Given the description of an element on the screen output the (x, y) to click on. 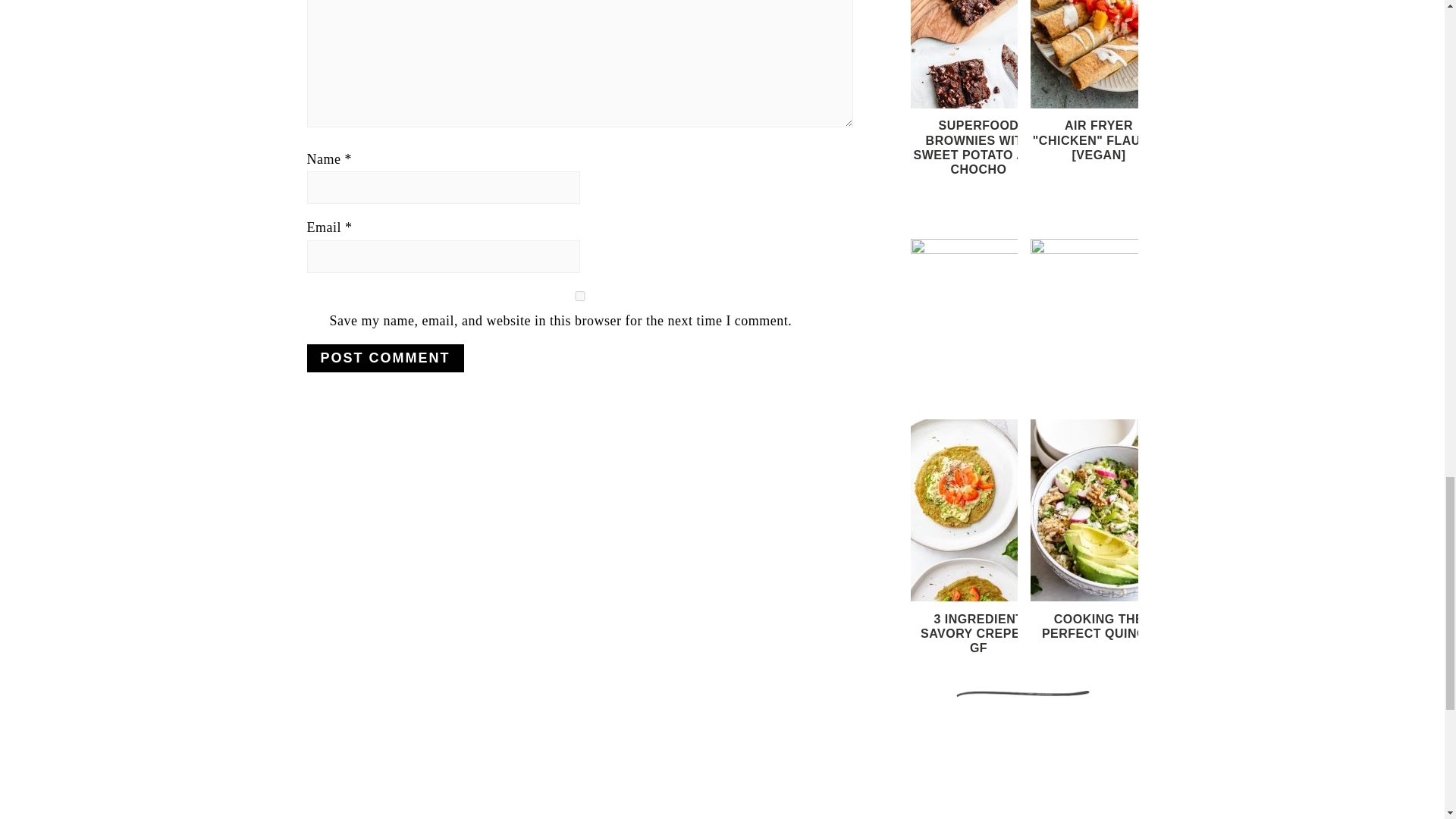
Post Comment (384, 357)
yes (578, 296)
